Given the description of an element on the screen output the (x, y) to click on. 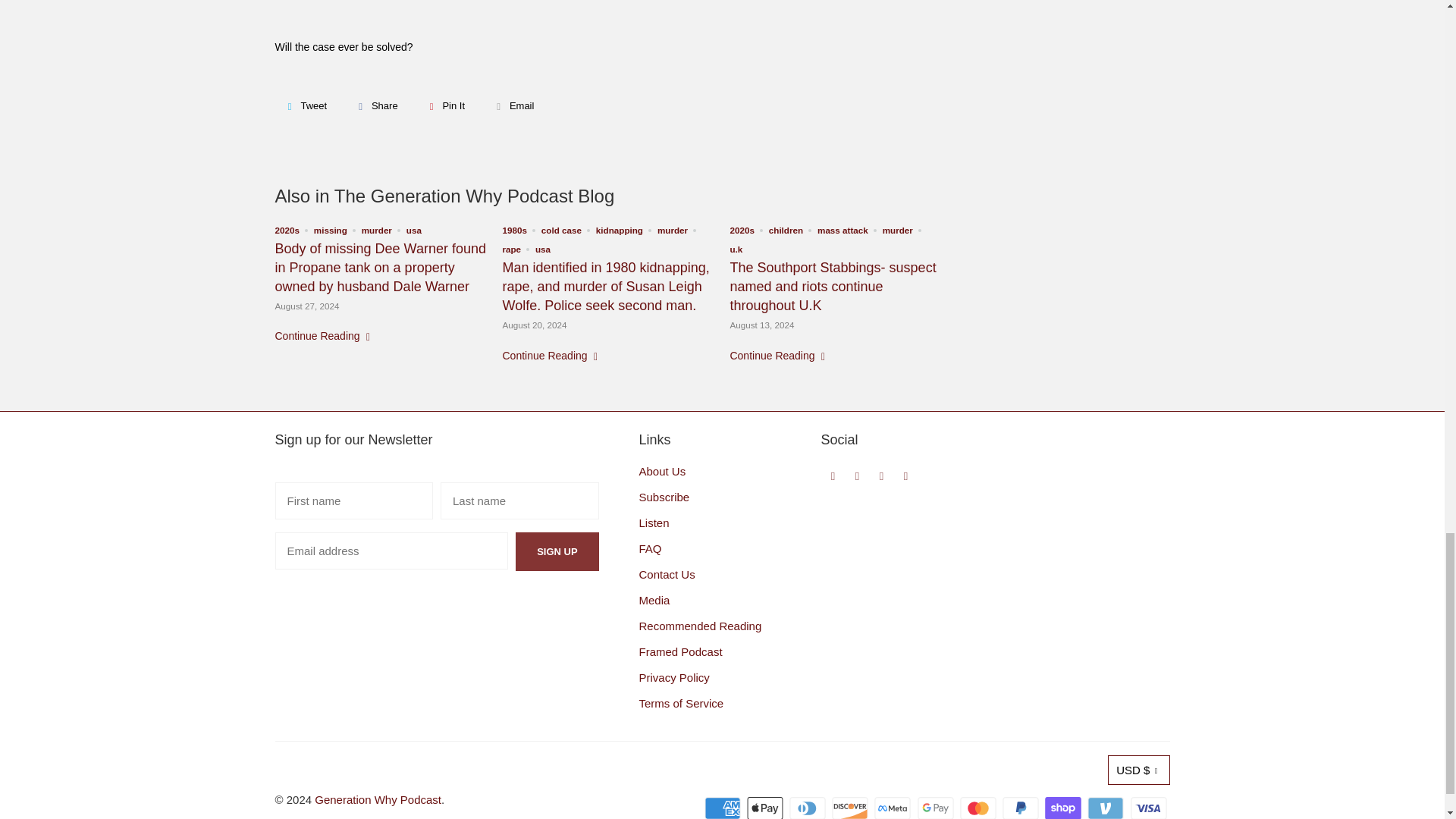
Sign Up (556, 551)
Apple Pay (766, 807)
Share this on Facebook (376, 105)
The Generation Why Podcast Blog tagged 2020s (286, 229)
PayPal (1022, 807)
Venmo (1106, 807)
Email this to a friend (513, 105)
Discover (850, 807)
American Express (724, 807)
Share this on Twitter (305, 105)
